Given the description of an element on the screen output the (x, y) to click on. 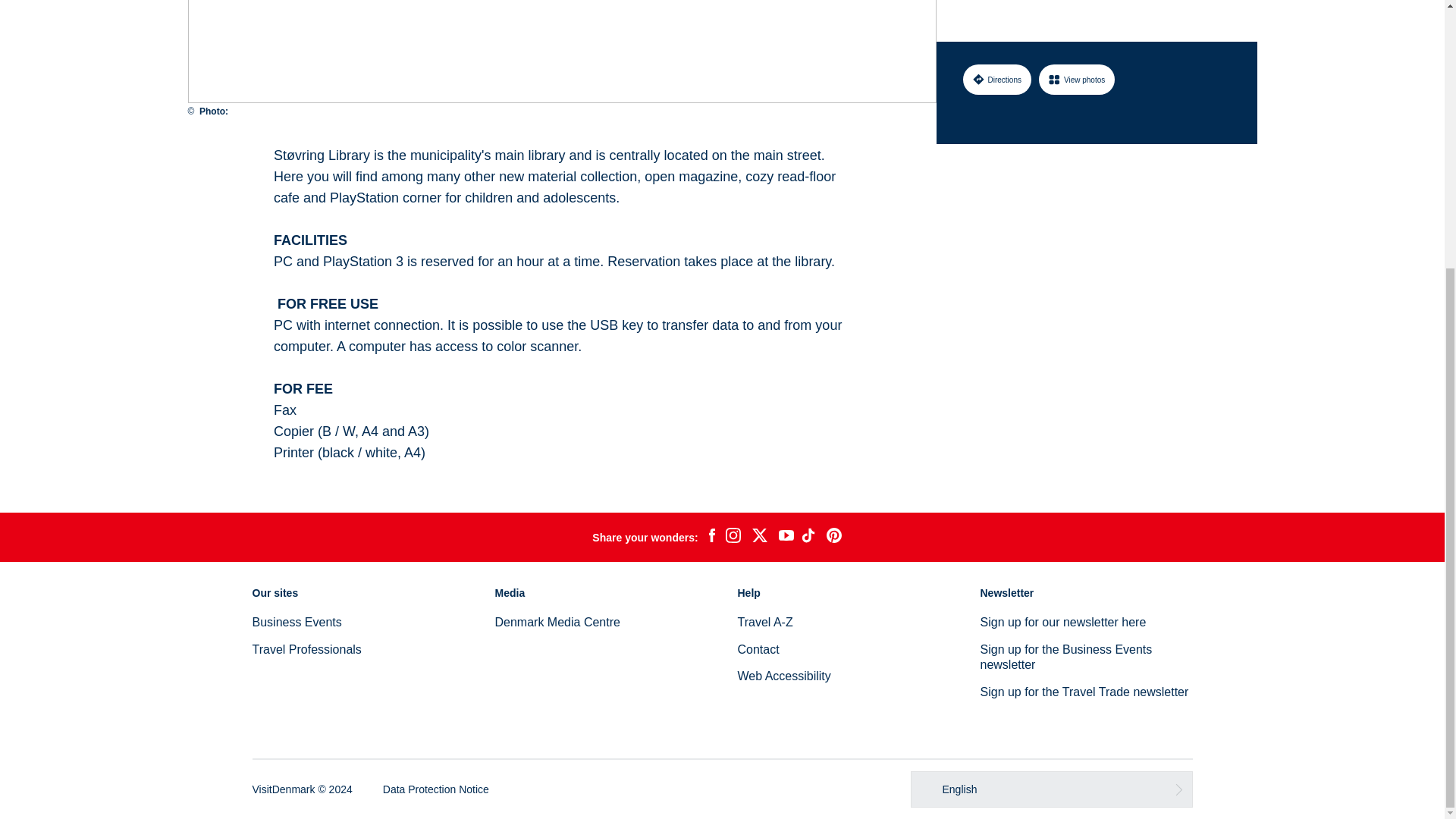
facebook (711, 537)
pinterest (834, 537)
Travel Professionals (306, 649)
Travel A-Z (764, 621)
Sign up for the Business Events newsletter (1065, 656)
Sign up for the Travel Trade newsletter (1083, 691)
Sign up for the Travel Trade newsletter (1083, 691)
Web Accessibility (782, 675)
Travel A-Z (764, 621)
Contact (757, 649)
